Given the description of an element on the screen output the (x, y) to click on. 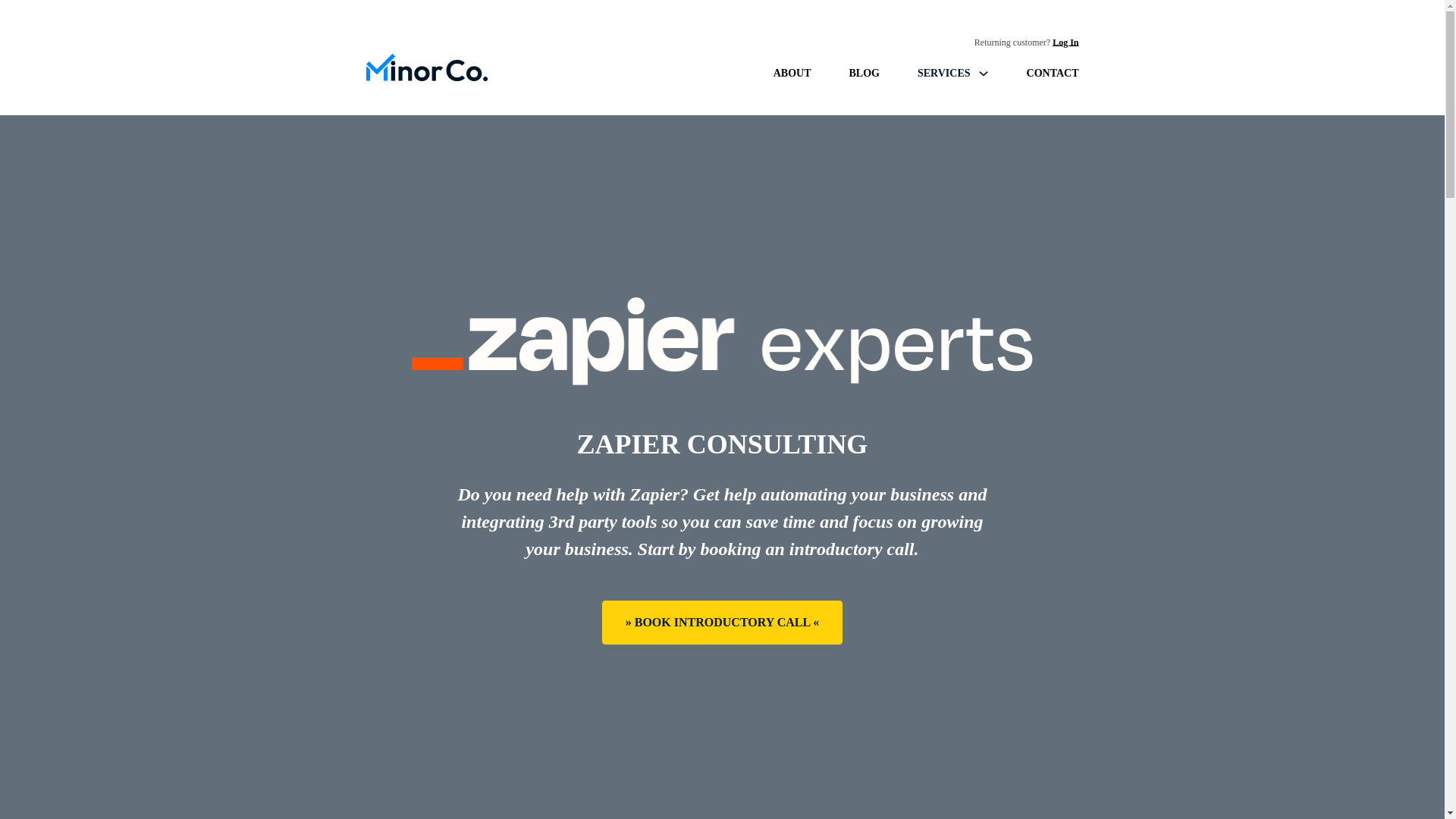
BLOG (863, 73)
CONTACT (1052, 73)
Log In (1065, 42)
ABOUT (791, 73)
SERVICES (944, 73)
